Given the description of an element on the screen output the (x, y) to click on. 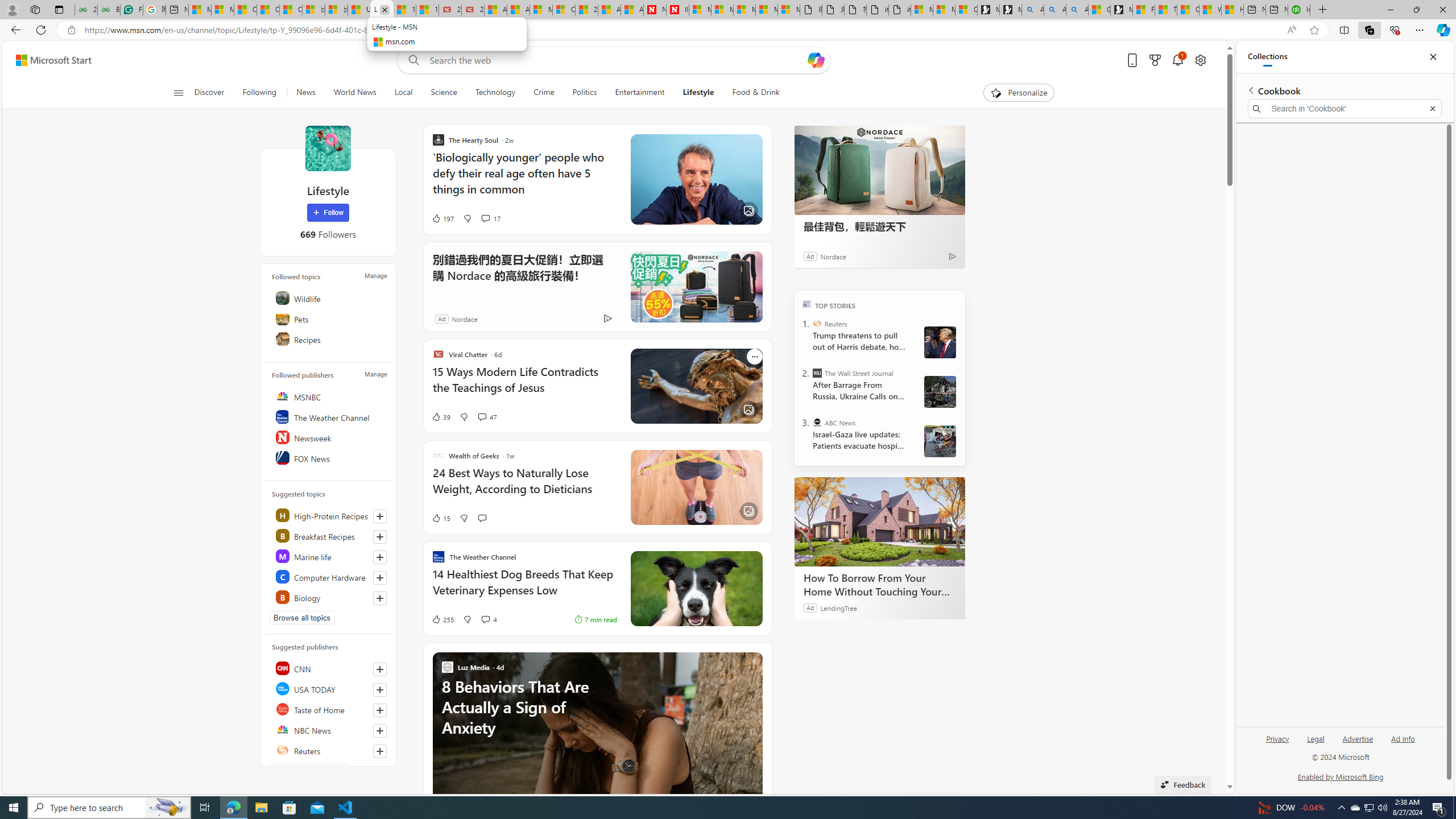
Personalize (1019, 92)
Local (403, 92)
